Given the description of an element on the screen output the (x, y) to click on. 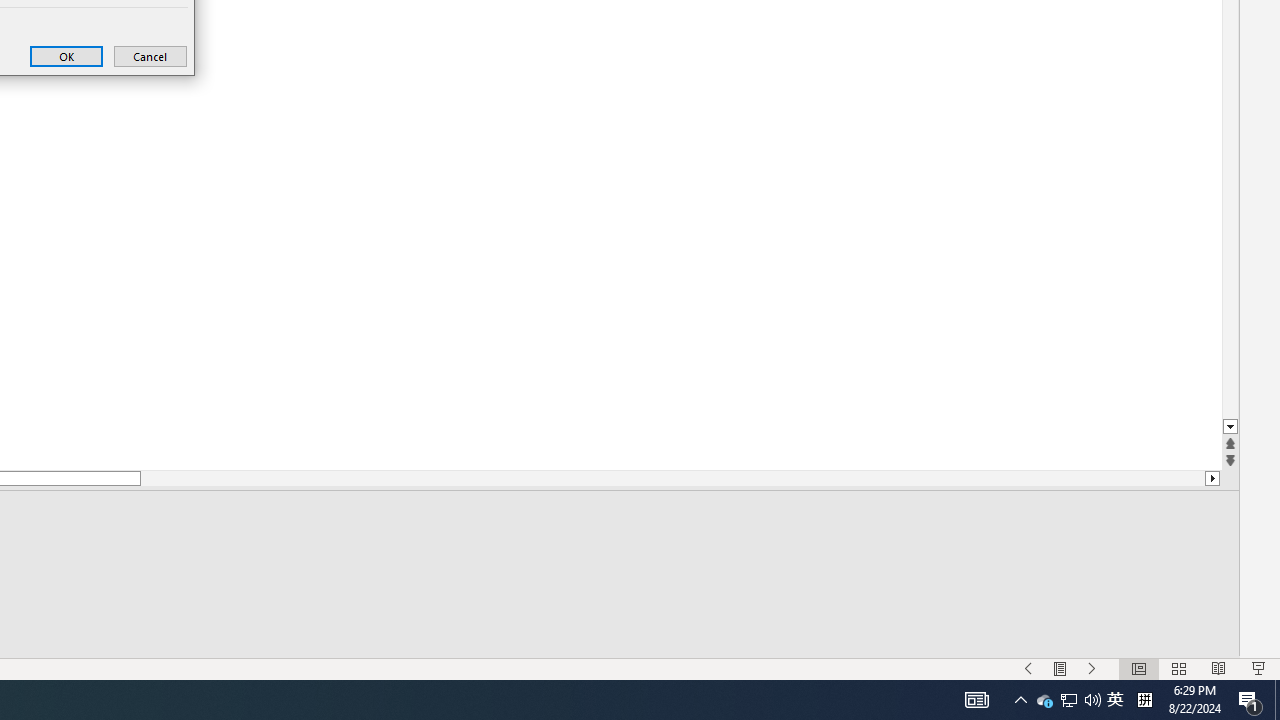
Slide Show Previous On (1028, 668)
OK (66, 55)
